Given the description of an element on the screen output the (x, y) to click on. 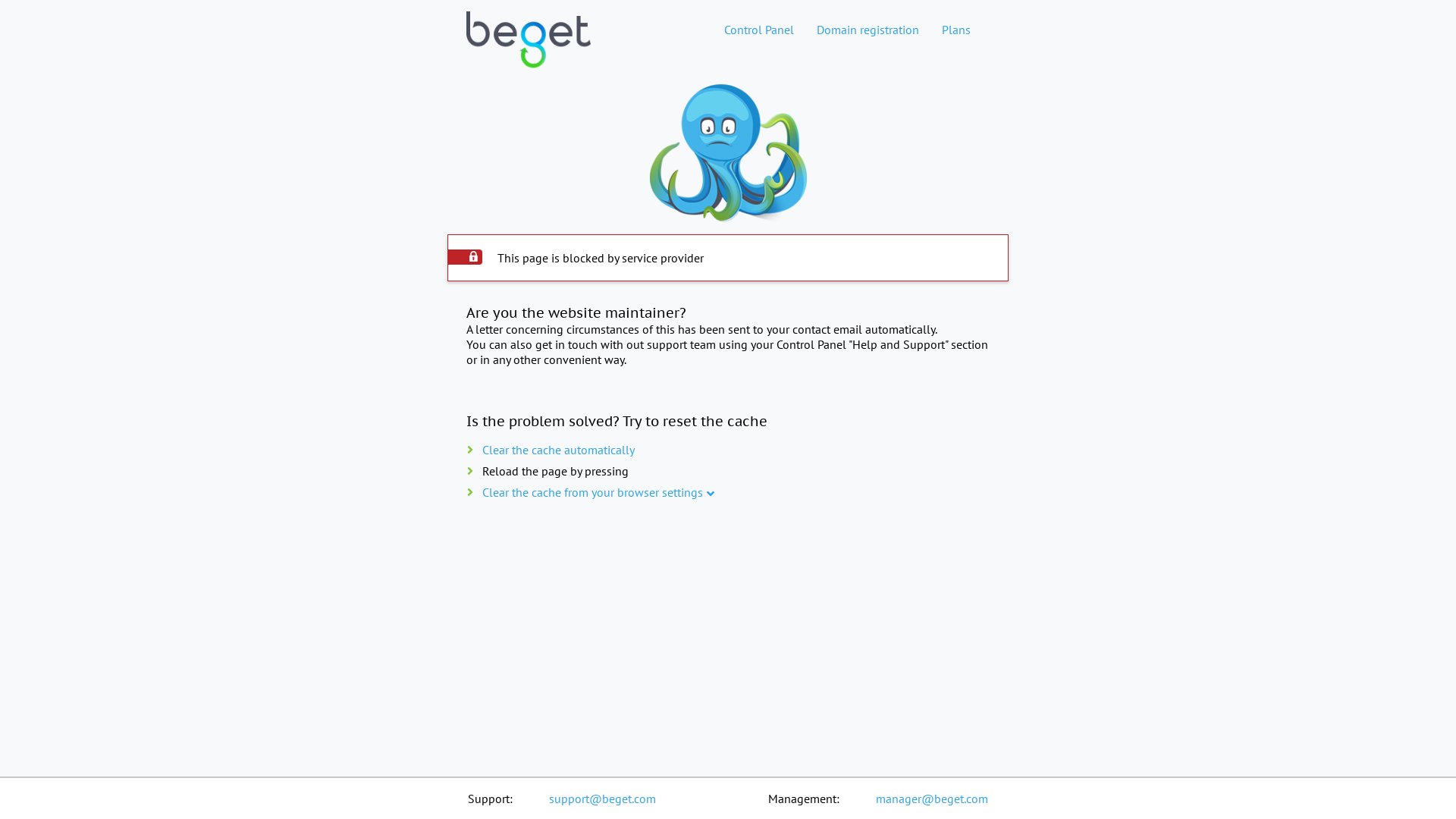
manager@beget.com Element type: text (931, 798)
Clear the cache automatically Element type: text (558, 449)
Domain registration Element type: text (867, 29)
Control Panel Element type: text (758, 29)
Plans Element type: text (956, 29)
support@beget.com Element type: text (602, 798)
Clear the cache from your browser settings Element type: text (592, 491)
Web hosting home page Element type: hover (528, 51)
